Given the description of an element on the screen output the (x, y) to click on. 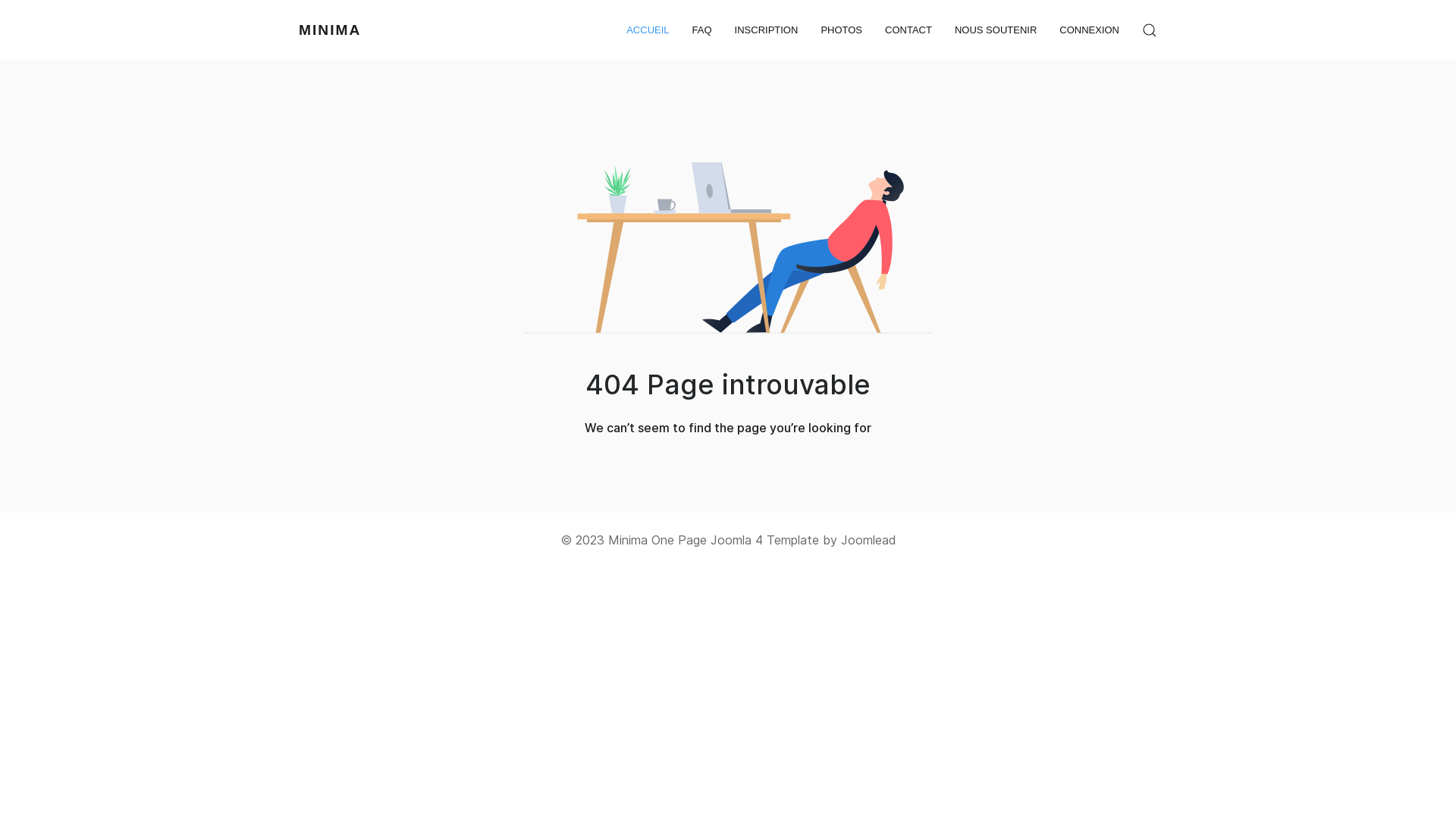
CONNEXION Element type: text (1089, 30)
PHOTOS Element type: text (841, 30)
FAQ Element type: text (702, 30)
MINIMA Element type: text (329, 30)
CONTACT Element type: text (907, 30)
Joomlead Element type: text (867, 539)
INSCRIPTION Element type: text (766, 30)
ACCUEIL Element type: text (647, 30)
NOUS SOUTENIR Element type: text (995, 30)
